Given the description of an element on the screen output the (x, y) to click on. 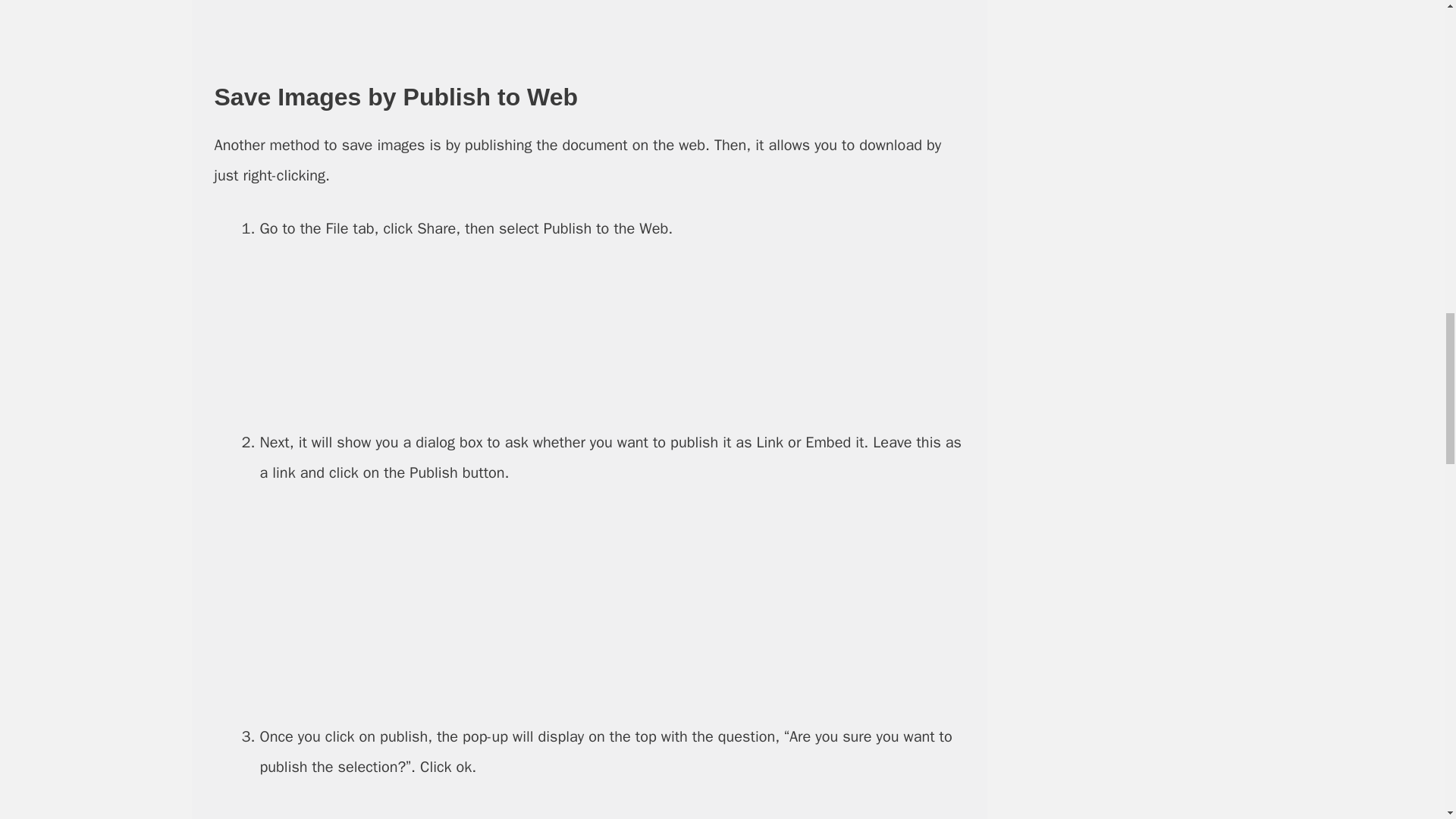
lick-ok-to-publish-this-selection (612, 808)
elect-publish-to-web-from-file (611, 335)
pen-all-images (611, 28)
lick-on-publish (611, 604)
